Given the description of an element on the screen output the (x, y) to click on. 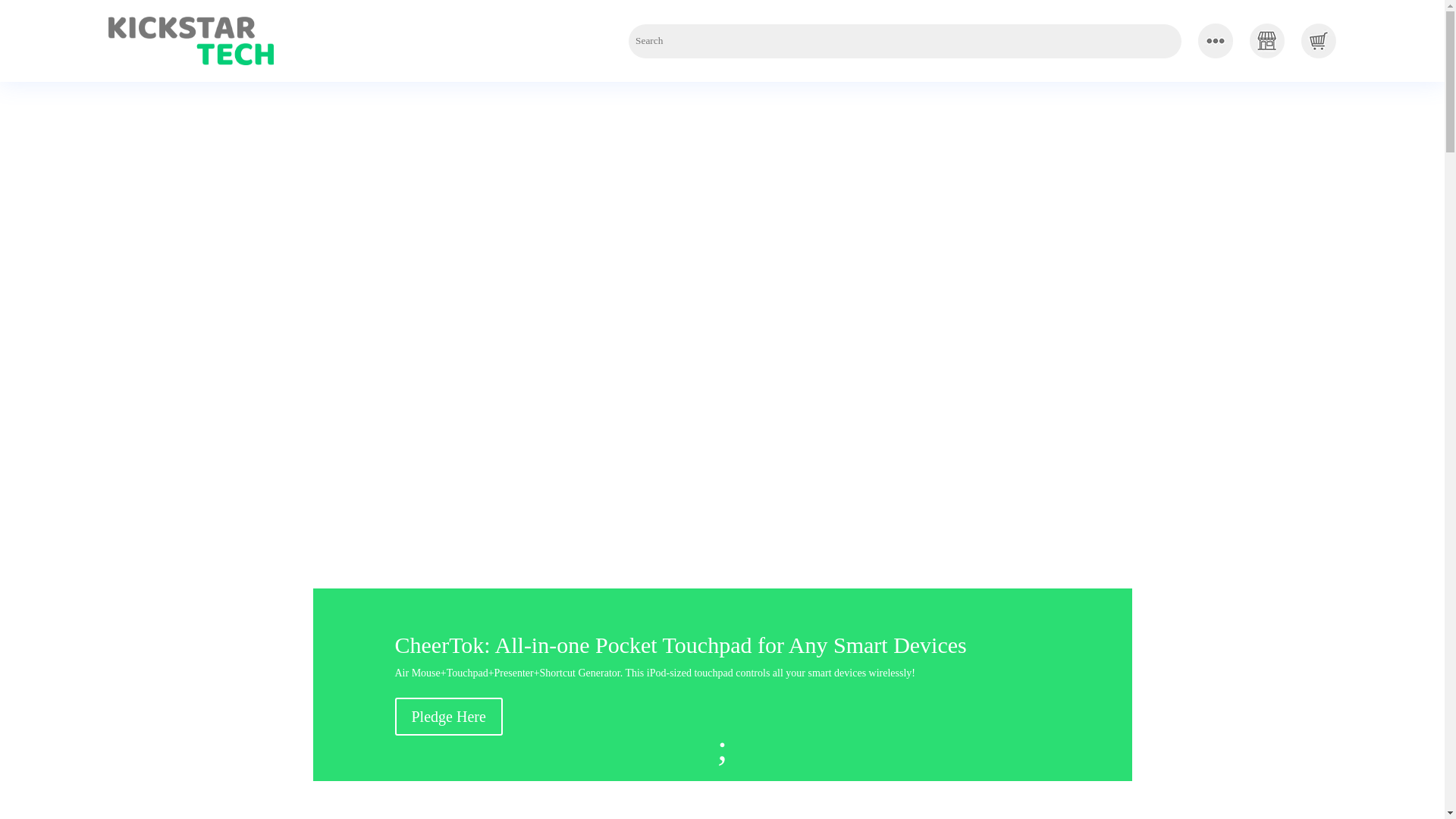
SEARCH FOR: (905, 40)
; (722, 751)
Pledge Here (448, 716)
